Given the description of an element on the screen output the (x, y) to click on. 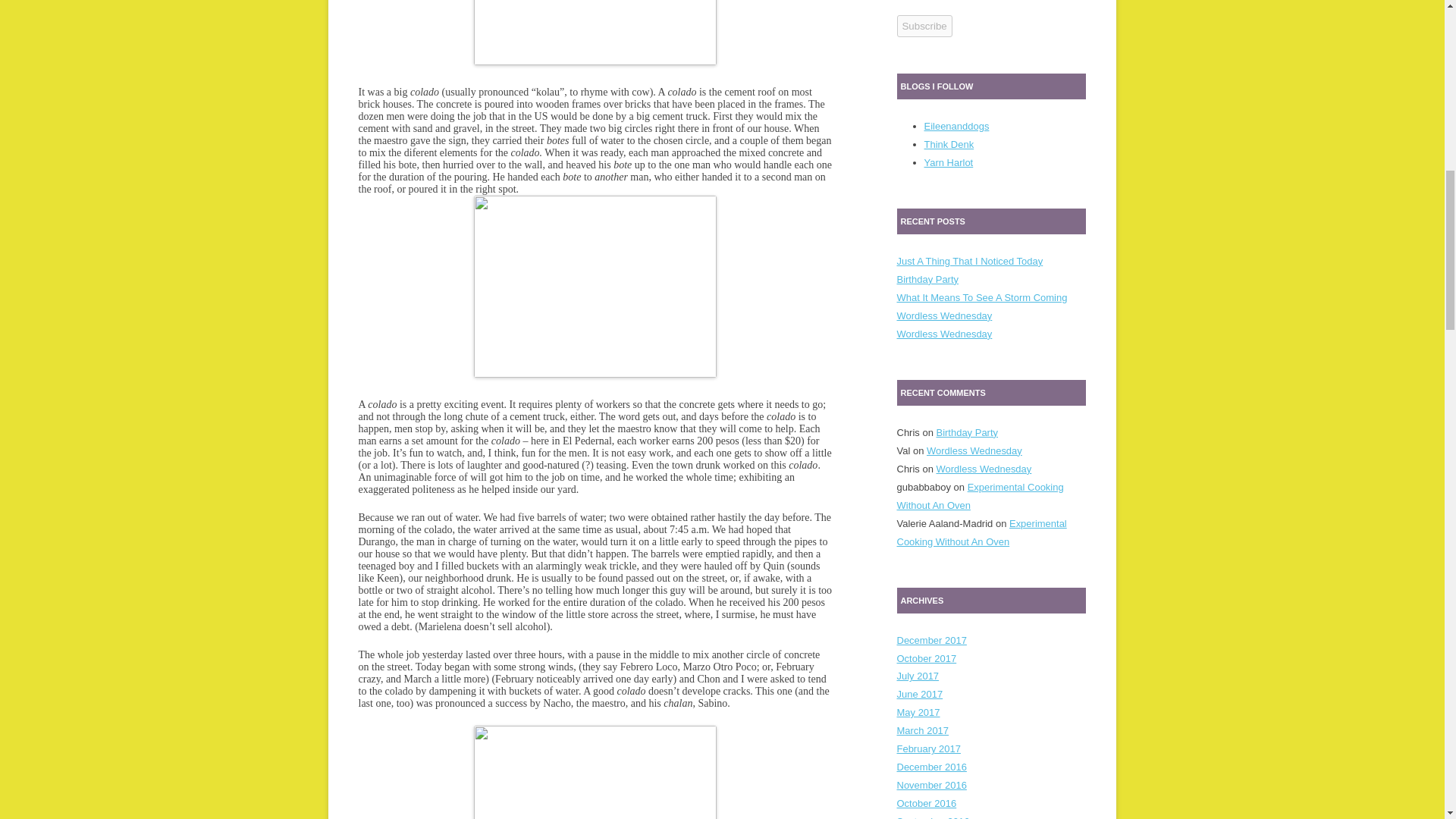
Birthday Party (966, 432)
Experimental Cooking Without An Oven (980, 532)
Yarn Harlot (947, 162)
Just A Thing That I Noticed Today (969, 260)
Wordless Wednesday (974, 450)
October 2017 (926, 657)
What It Means To See A Storm Coming (981, 297)
Subscribe (924, 25)
December 2017 (931, 640)
Eileenanddogs (955, 125)
Wordless Wednesday (943, 315)
Wordless Wednesday (943, 333)
Experimental Cooking Without An Oven (979, 496)
Think Denk (948, 143)
Birthday Party (927, 279)
